Given the description of an element on the screen output the (x, y) to click on. 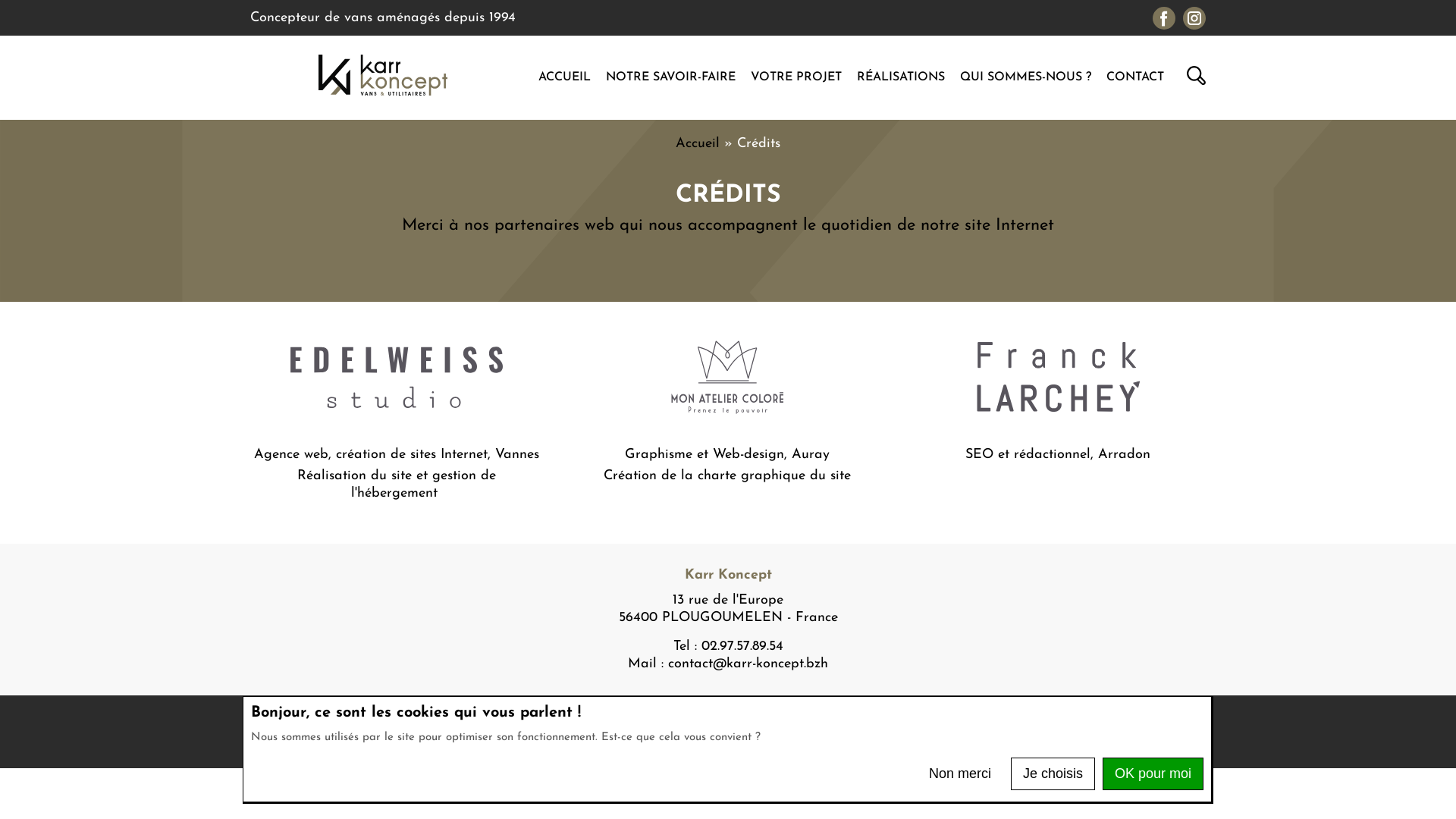
OK pour moi Element type: text (1152, 773)
NOTRE SAVOIR-FAIRE Element type: text (670, 77)
ACCUEIL Element type: text (564, 77)
Graphisme et Web Design Element type: hover (726, 411)
Revue de presse Element type: text (561, 718)
Karr Koncept Element type: hover (382, 91)
VOTRE PROJET Element type: text (795, 77)
Accueil Element type: text (697, 143)
CONTACT Element type: text (1134, 77)
Instagram Element type: text (1194, 17)
Contact Element type: text (904, 718)
Je choisis Element type: text (1052, 773)
Non merci Element type: text (959, 773)
Cookies Element type: text (653, 718)
QUI SOMMES-NOUS ? Element type: text (1025, 77)
Facebook Element type: text (1163, 17)
